Given the description of an element on the screen output the (x, y) to click on. 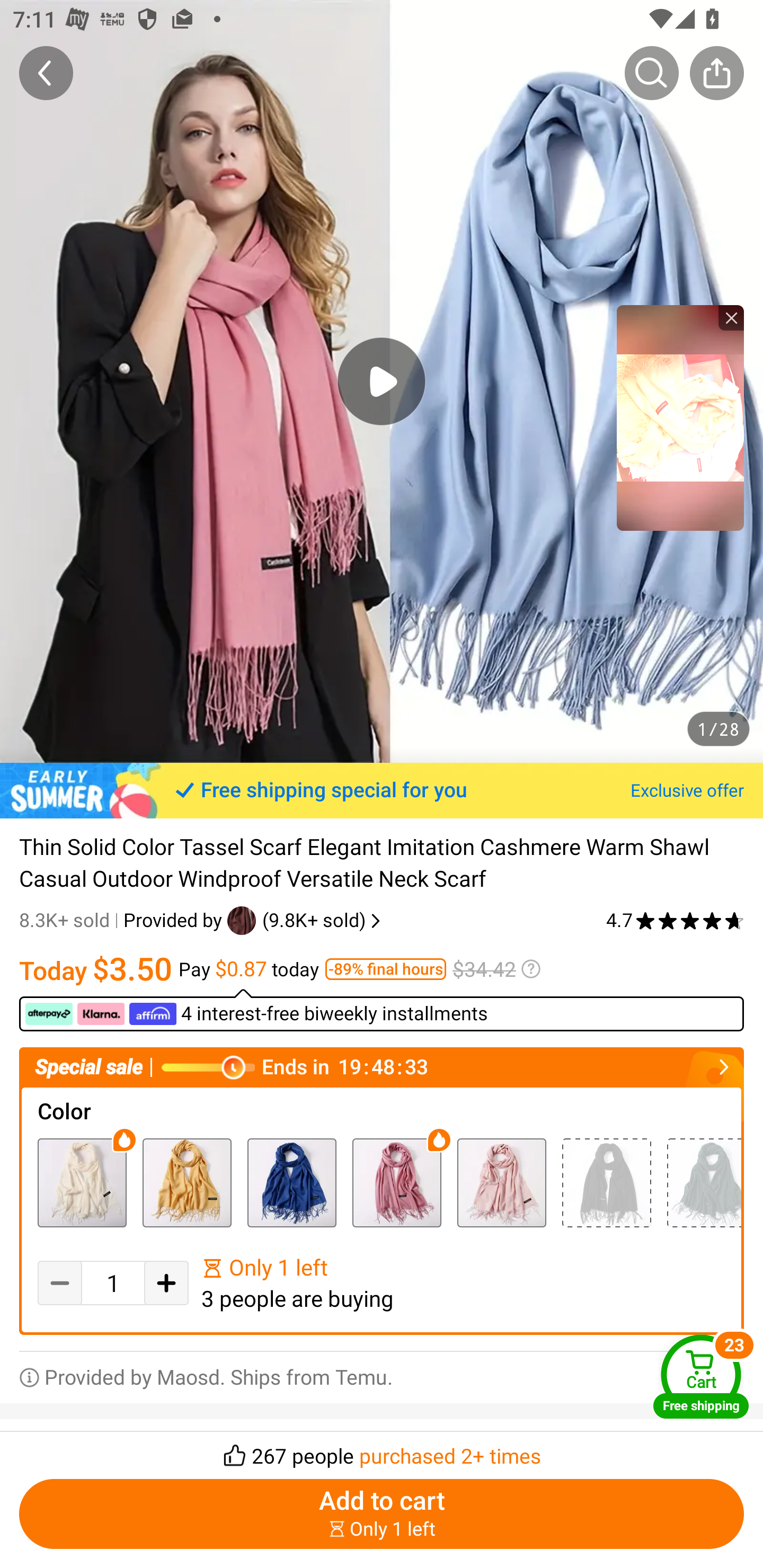
Back (46, 72)
Share (716, 72)
Free shipping special for you Exclusive offer (381, 790)
8.3K+ sold Provided by  (123, 920)
4.7 (674, 920)
￼ ￼ ￼ 4 interest-free biweekly installments (381, 1009)
Special sale Ends in￼￼ (381, 1067)
Style2 (81, 1182)
Style3 (186, 1182)
Style6 (291, 1182)
14 (396, 1182)
Color #15 (501, 1182)
Style1 (606, 1182)
Style4 (703, 1182)
Decrease Quantity Button (59, 1282)
Add Quantity button (166, 1282)
1 (113, 1283)
Cart Free shipping Cart (701, 1375)
￼￼267 people purchased 2+ times (381, 1450)
Add to cart ￼￼Only 1 left (381, 1513)
